Given the description of an element on the screen output the (x, y) to click on. 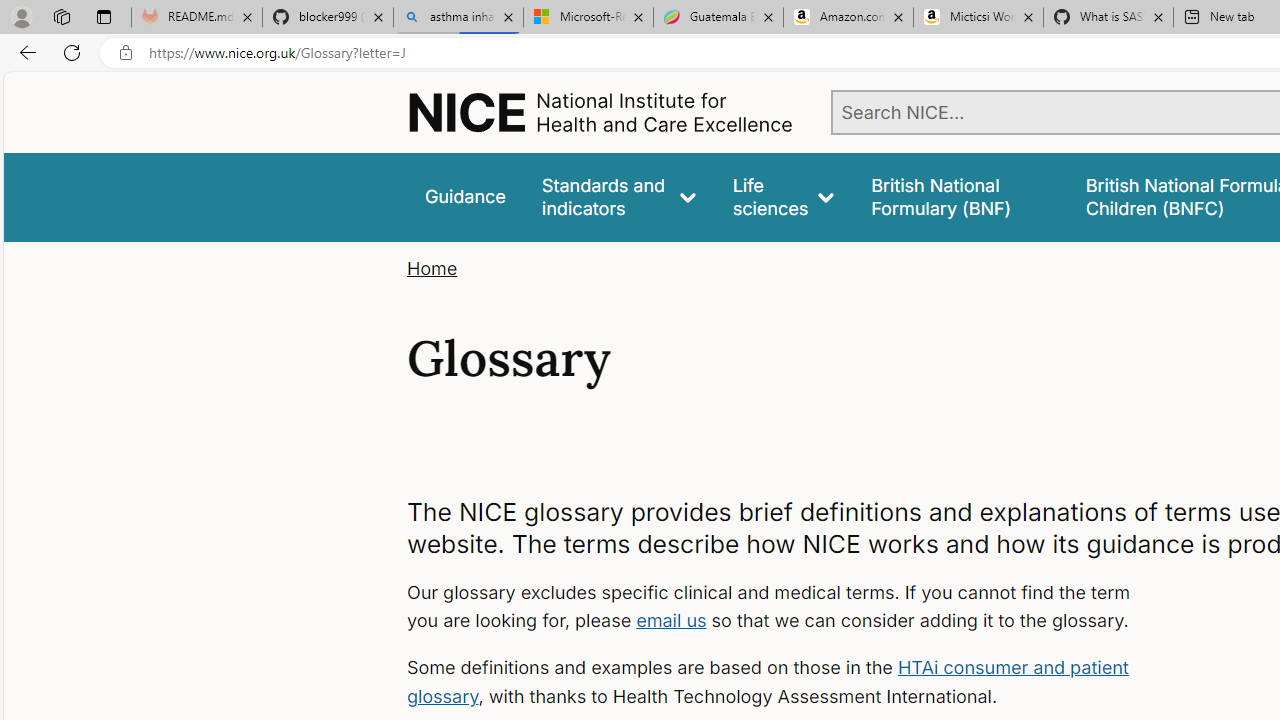
Guidance (464, 196)
Guidance (464, 196)
Life sciences (783, 196)
